Given the description of an element on the screen output the (x, y) to click on. 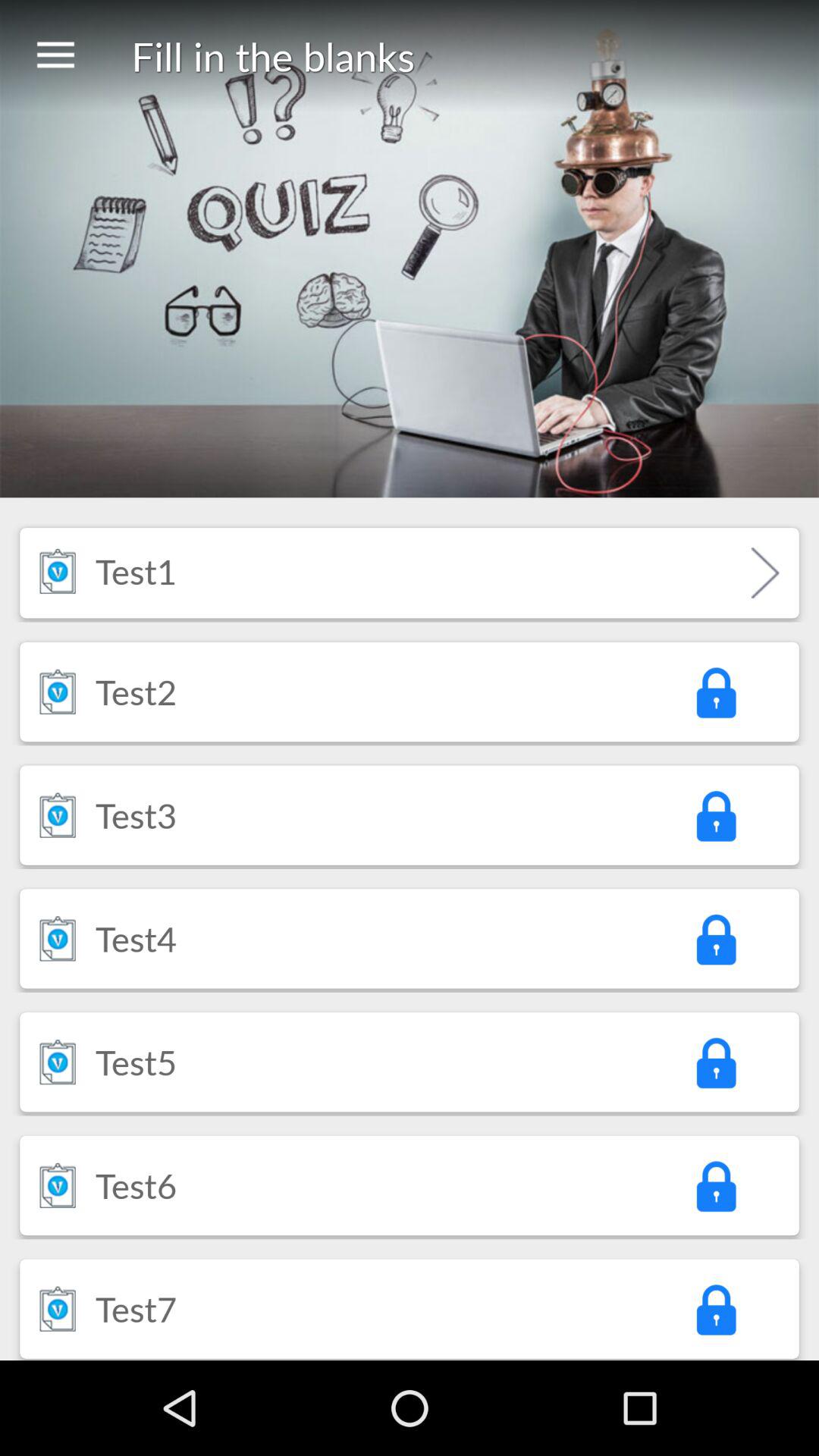
turn off icon next to the fill in the item (55, 55)
